Given the description of an element on the screen output the (x, y) to click on. 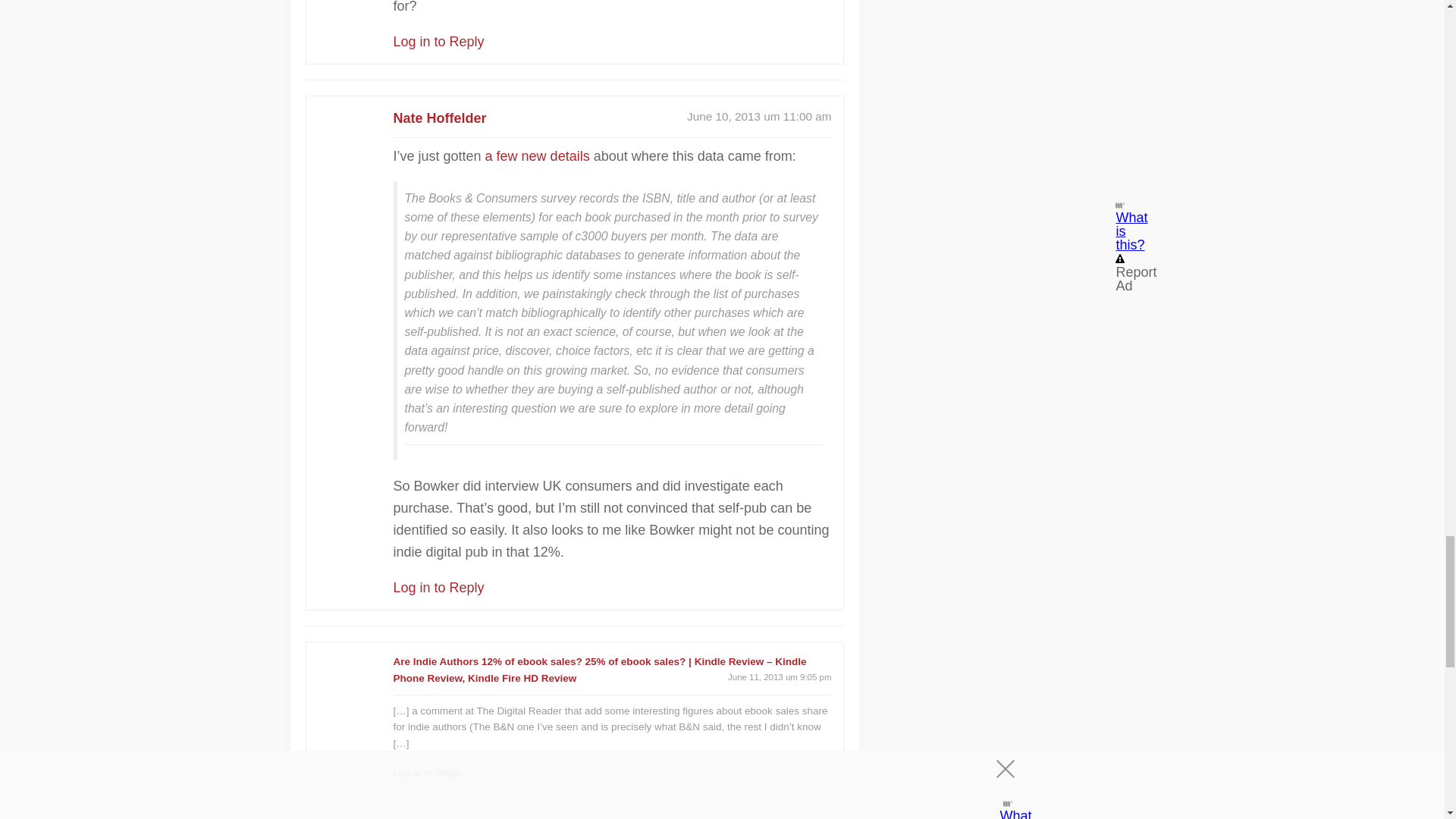
Log in to Reply (427, 772)
a few new details (536, 155)
Log in to Reply (438, 41)
Log in to Reply (438, 587)
